Given the description of an element on the screen output the (x, y) to click on. 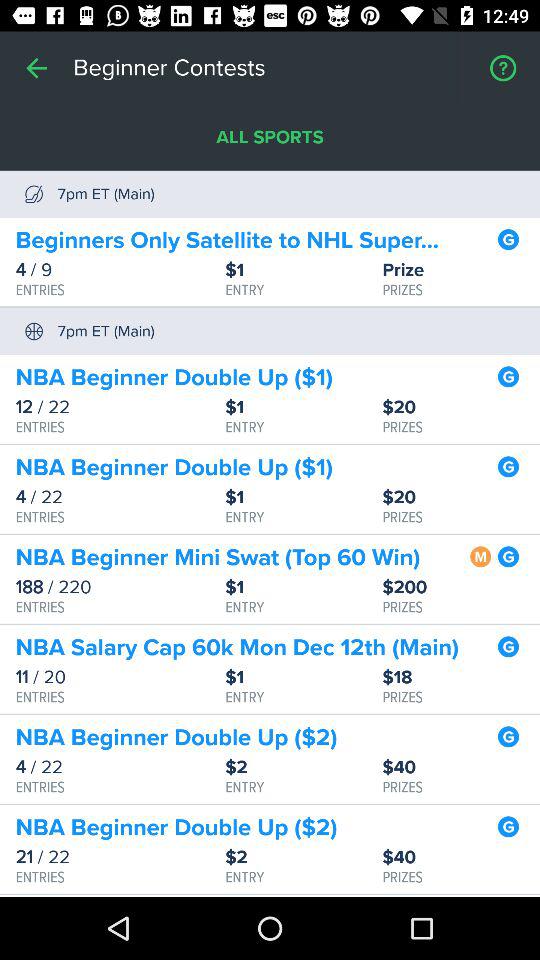
launch item next to beginner contests icon (36, 68)
